Given the description of an element on the screen output the (x, y) to click on. 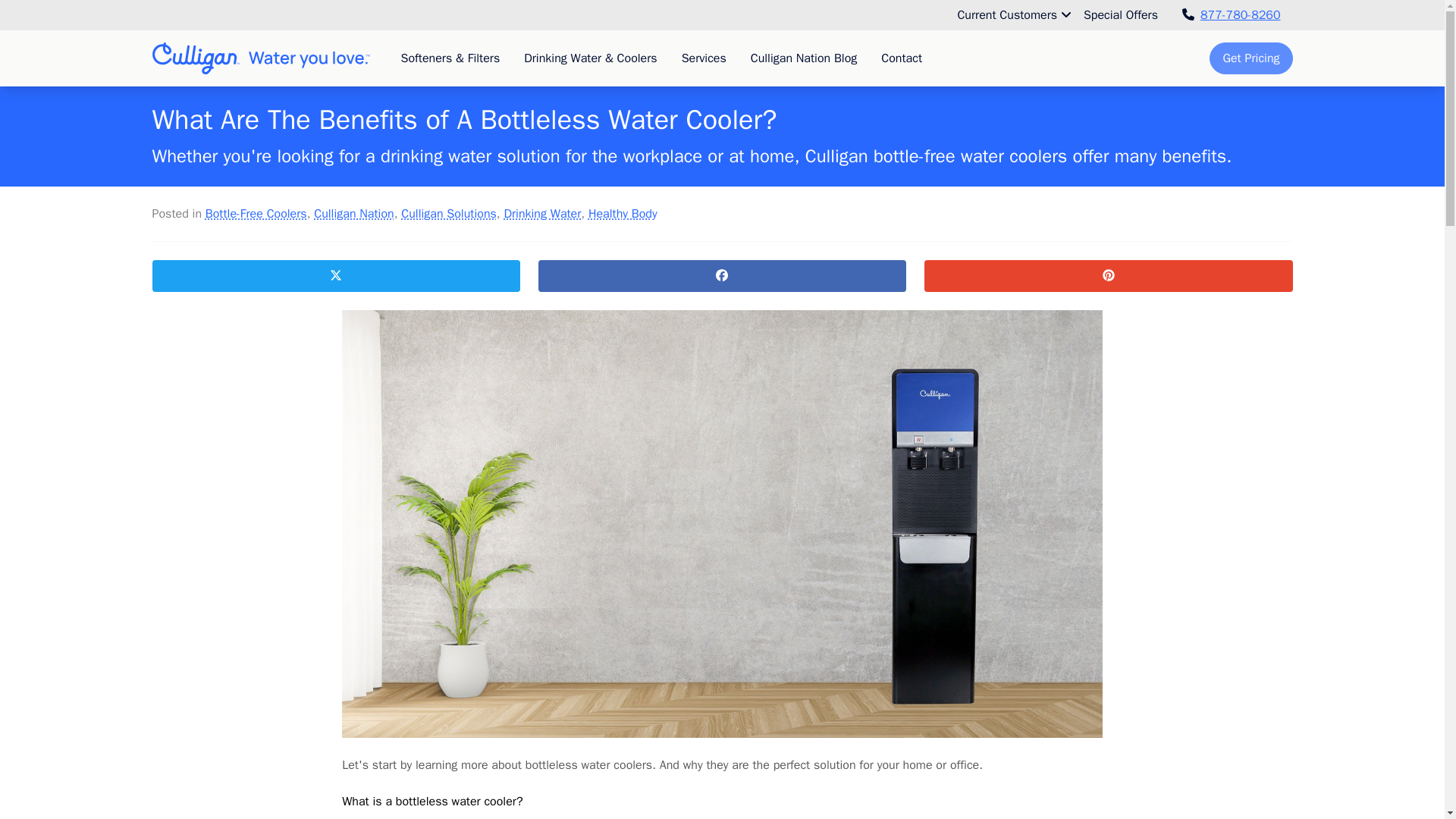
Bottle-Free Coolers (256, 213)
Special Offers (1120, 15)
Culligan Nation Blog (803, 58)
Drinking Water (541, 213)
Culligan Nation (353, 213)
877-780-8260 (1231, 15)
Current Customers (1013, 15)
Services (703, 58)
Get Pricing (1250, 58)
Contact (901, 58)
Culligan Solutions (448, 213)
Healthy Body (623, 213)
